Given the description of an element on the screen output the (x, y) to click on. 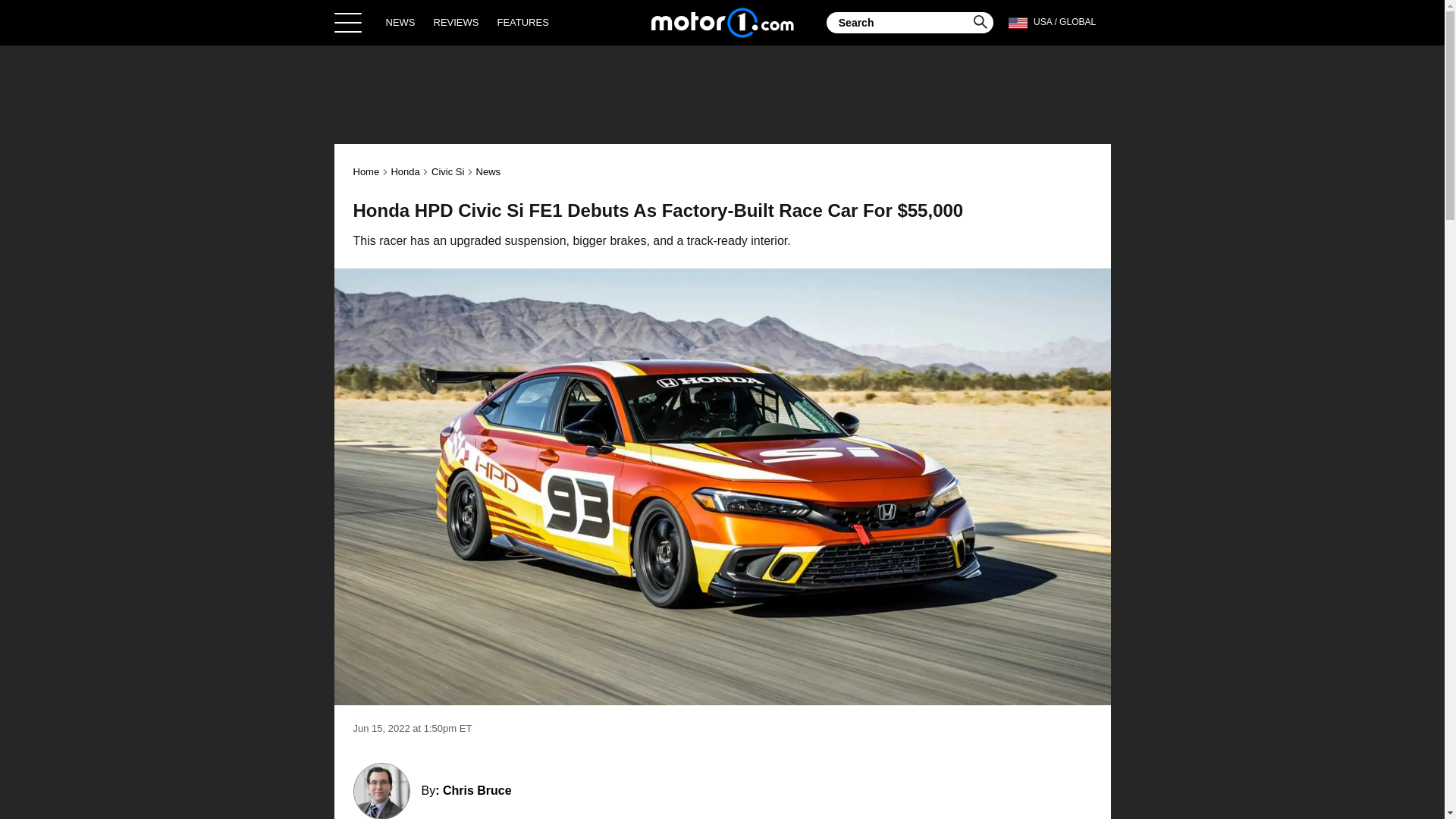
Civic Si (447, 171)
Chris Bruce (477, 789)
News (488, 171)
NEWS (399, 22)
Home (721, 22)
REVIEWS (456, 22)
FEATURES (522, 22)
Home (366, 171)
Honda (404, 171)
